Given the description of an element on the screen output the (x, y) to click on. 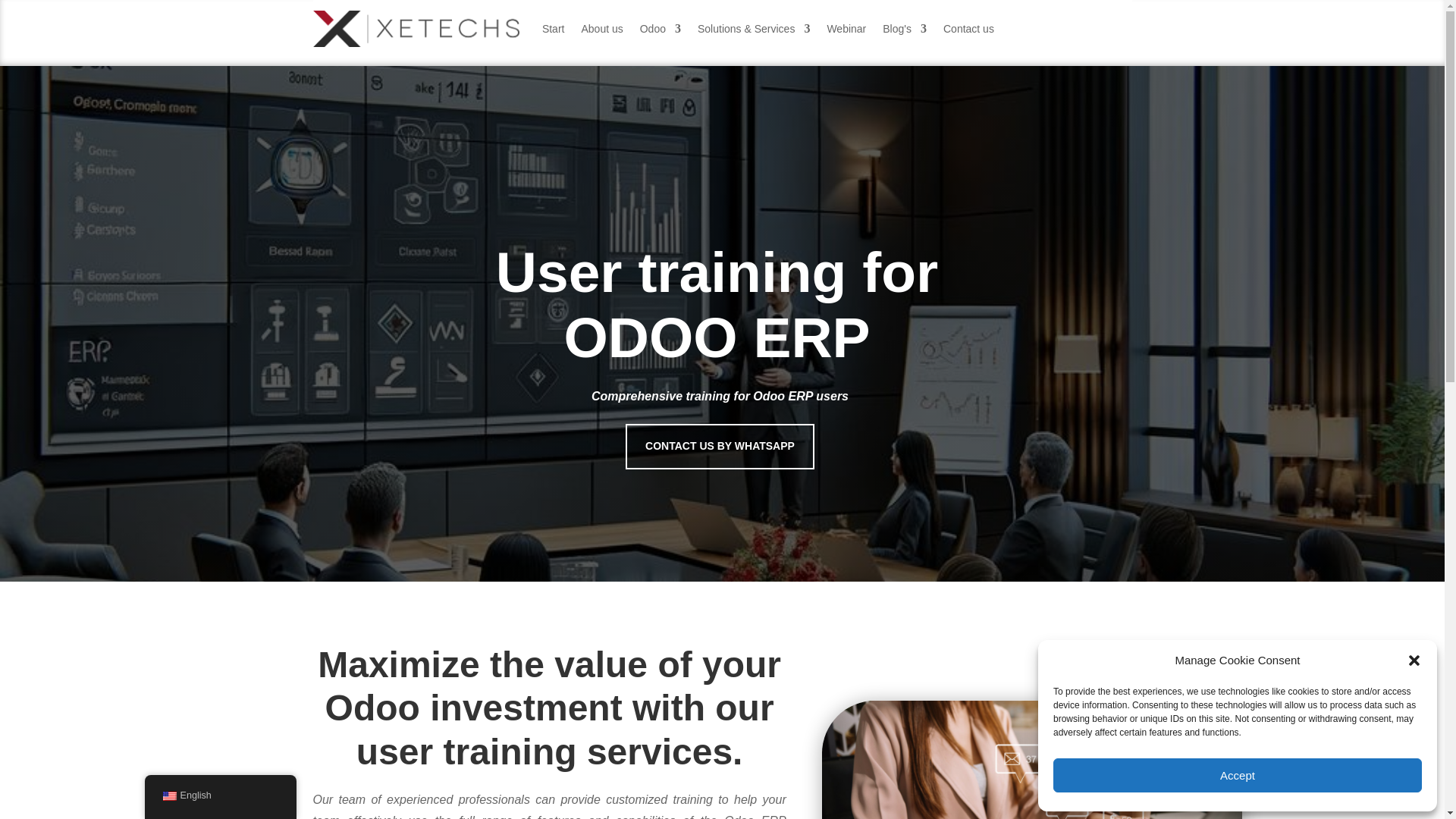
English (168, 795)
User training  (972, 760)
Accept (1237, 775)
